Given the description of an element on the screen output the (x, y) to click on. 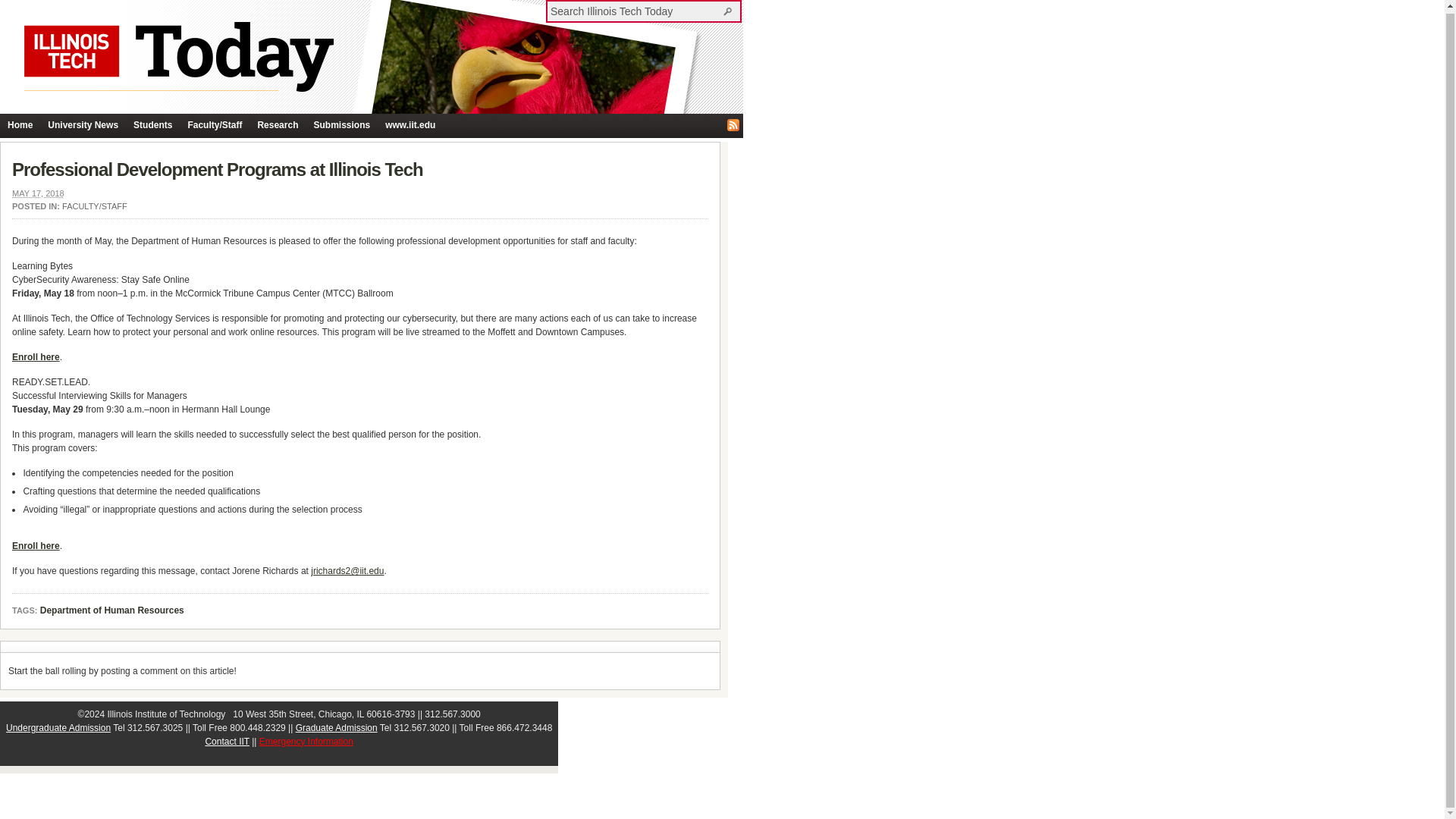
Contact IIT (226, 741)
Enroll here (35, 357)
Graduate Admission (336, 727)
Contact IIT (226, 741)
Search Illinois Tech Today (636, 10)
Enroll here (35, 545)
RSS Feed (732, 124)
University News (82, 125)
Home (20, 125)
Illinois Tech Today RSS Feed (732, 124)
Search (729, 10)
Students (152, 125)
Professional Development Programs at Illinois Tech (217, 168)
2018-05-17T06:00:44-05:00 (37, 193)
Department of Human Resources (112, 611)
